Given the description of an element on the screen output the (x, y) to click on. 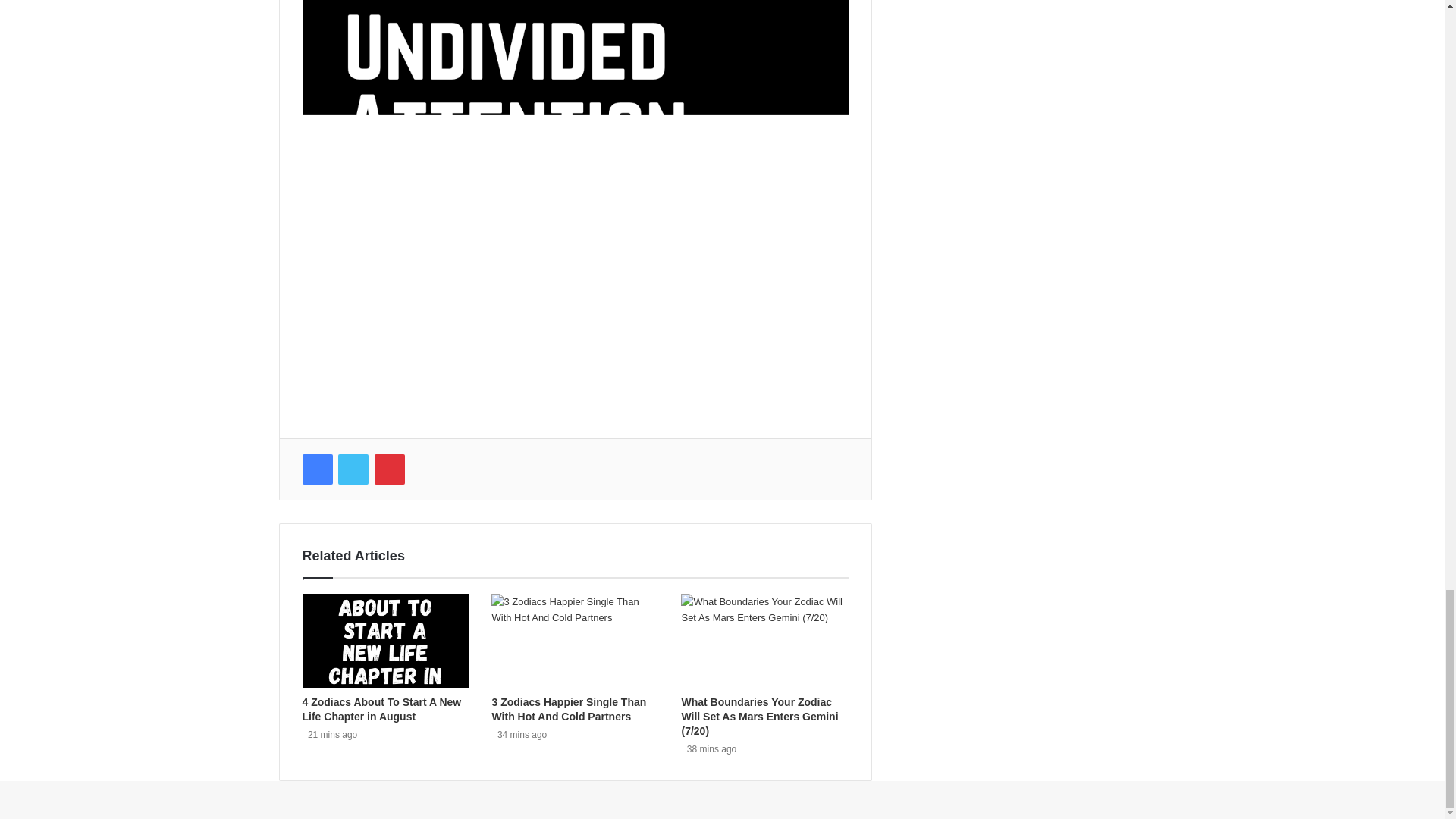
Twitter (352, 469)
Facebook (316, 469)
Pinterest (389, 469)
Twitter (352, 469)
Facebook (316, 469)
Pinterest (389, 469)
